Given the description of an element on the screen output the (x, y) to click on. 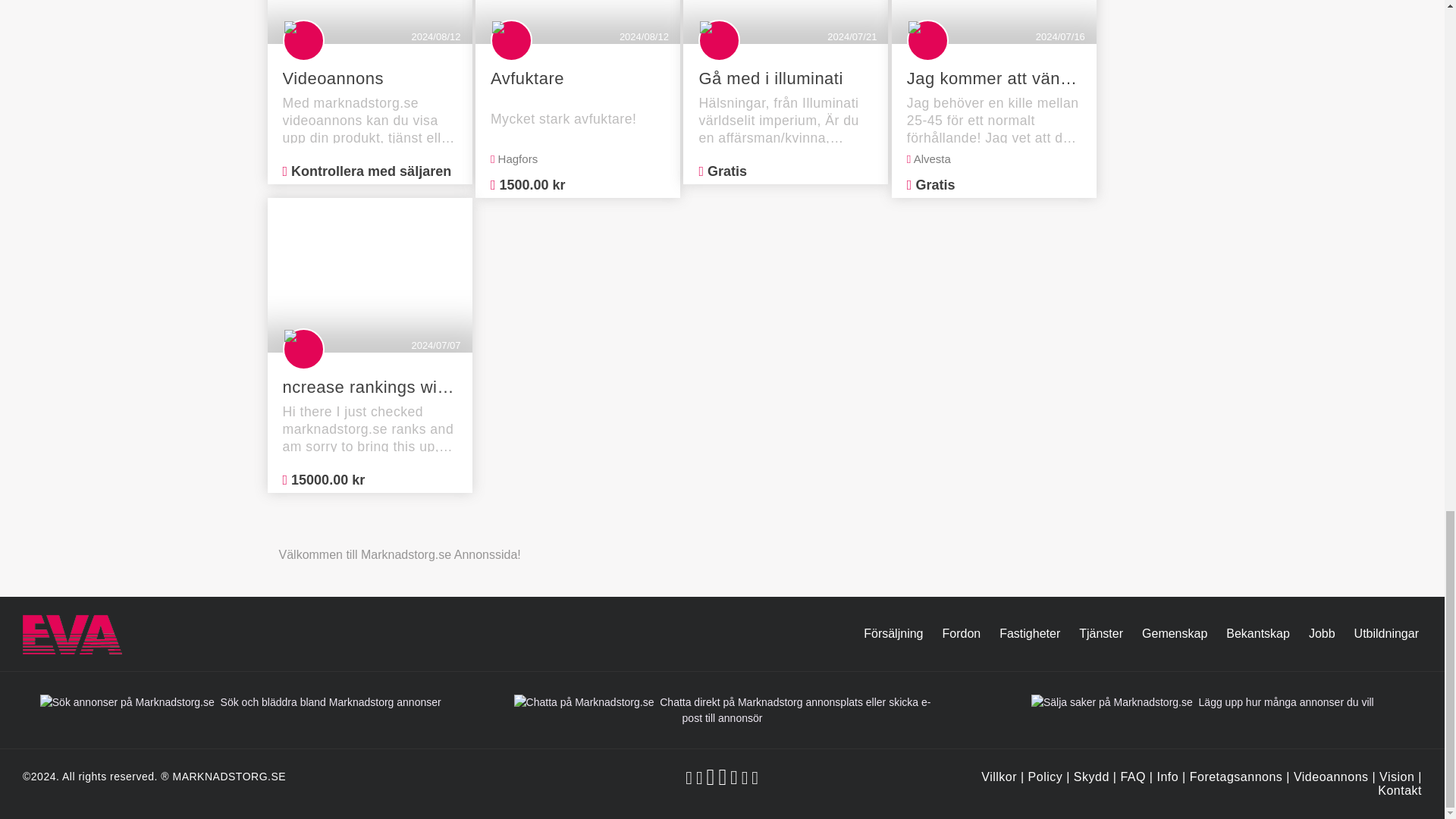
Videoannons (369, 78)
Avfuktare (577, 78)
FAQ (1132, 776)
Skydd (1091, 776)
ncrease rankings with a SEO friendly web design (369, 387)
Info (1166, 776)
Foretagsannons (1235, 776)
Villkor (998, 776)
Videoannons (1331, 776)
Policy  (1044, 776)
